Given the description of an element on the screen output the (x, y) to click on. 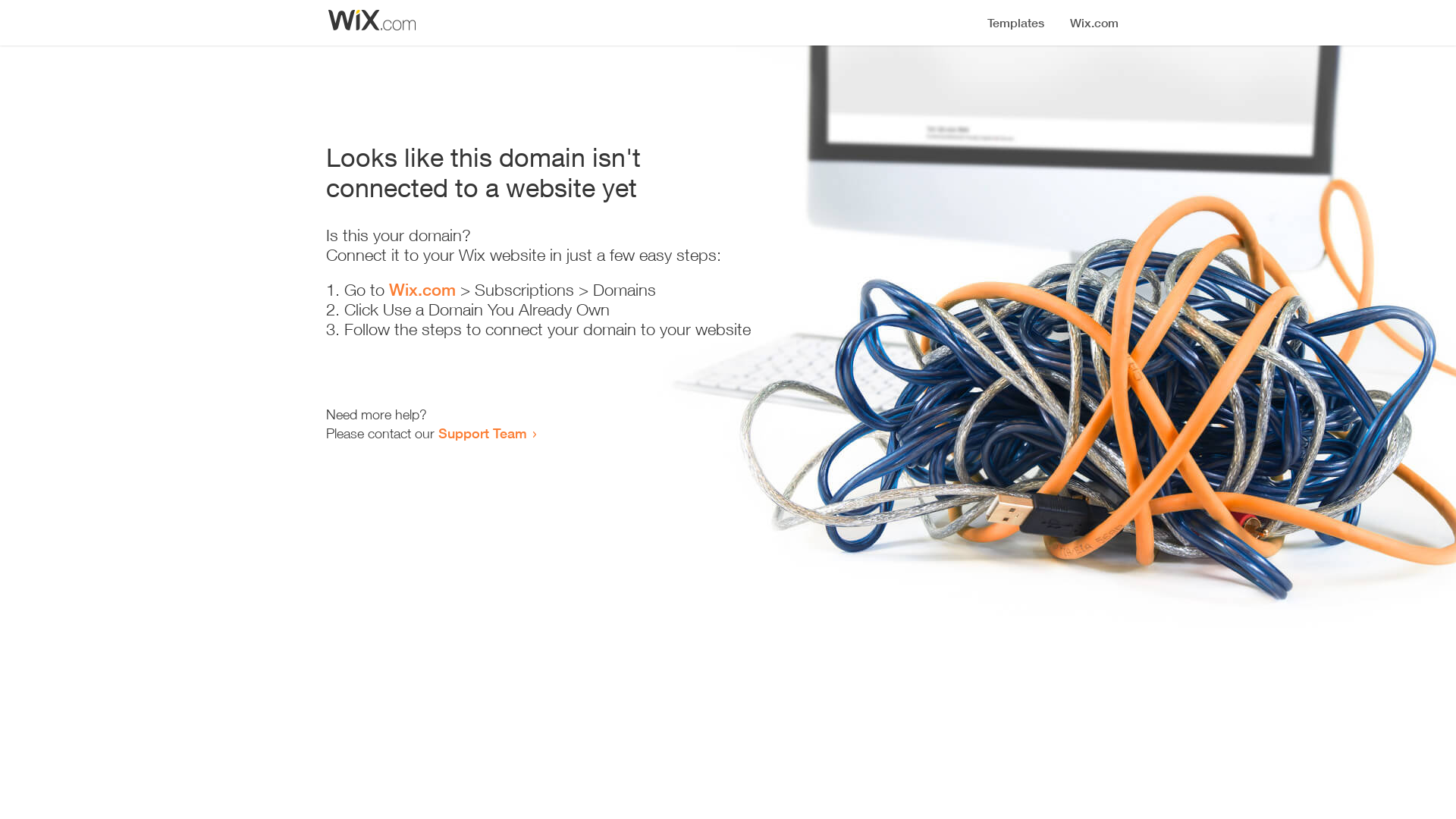
Wix.com Element type: text (422, 289)
Support Team Element type: text (482, 432)
